Given the description of an element on the screen output the (x, y) to click on. 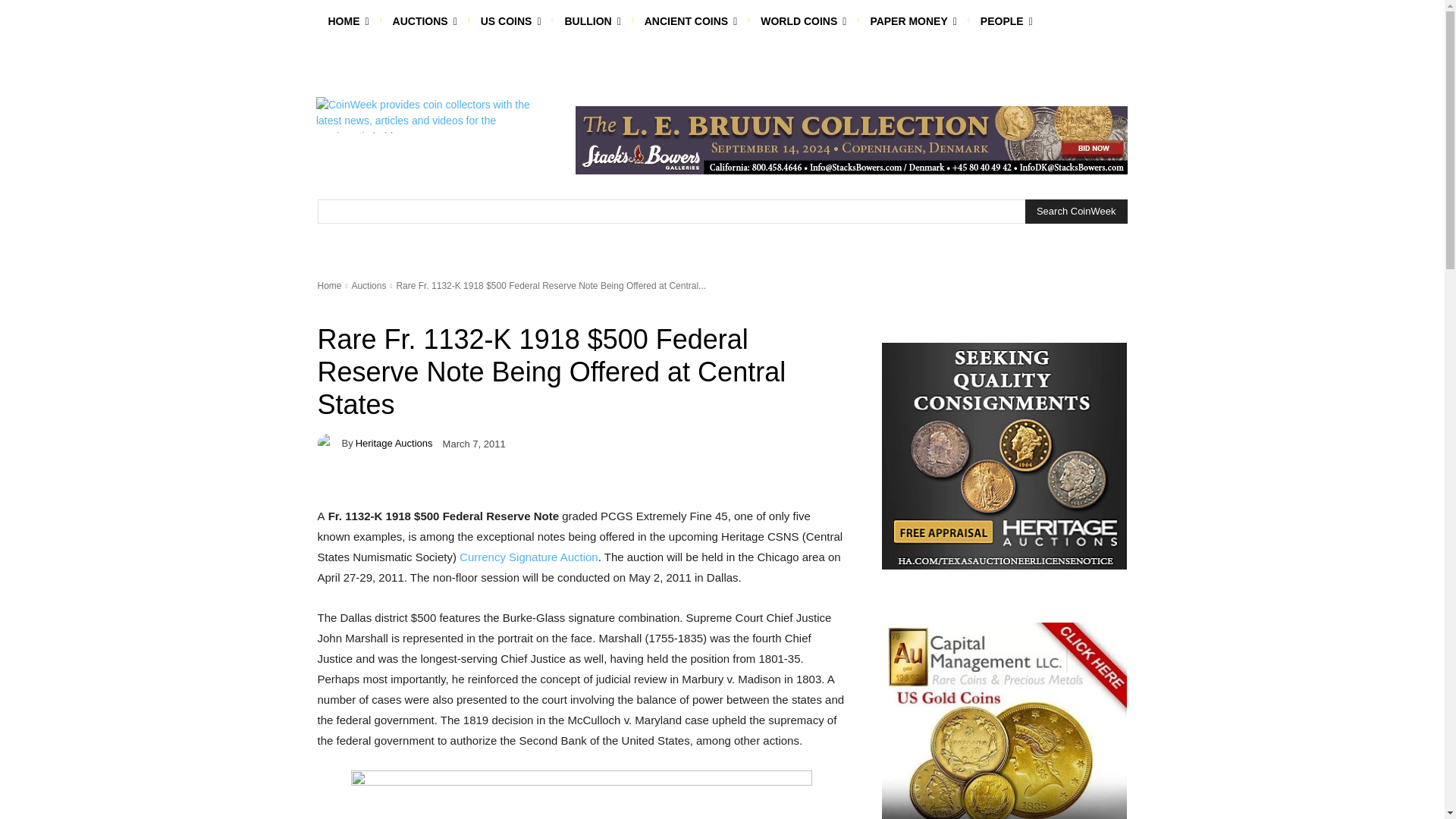
HOME (347, 21)
View all posts in Auctions (367, 285)
Heritage Auctions (328, 443)
AUCTIONS (424, 21)
